Given the description of an element on the screen output the (x, y) to click on. 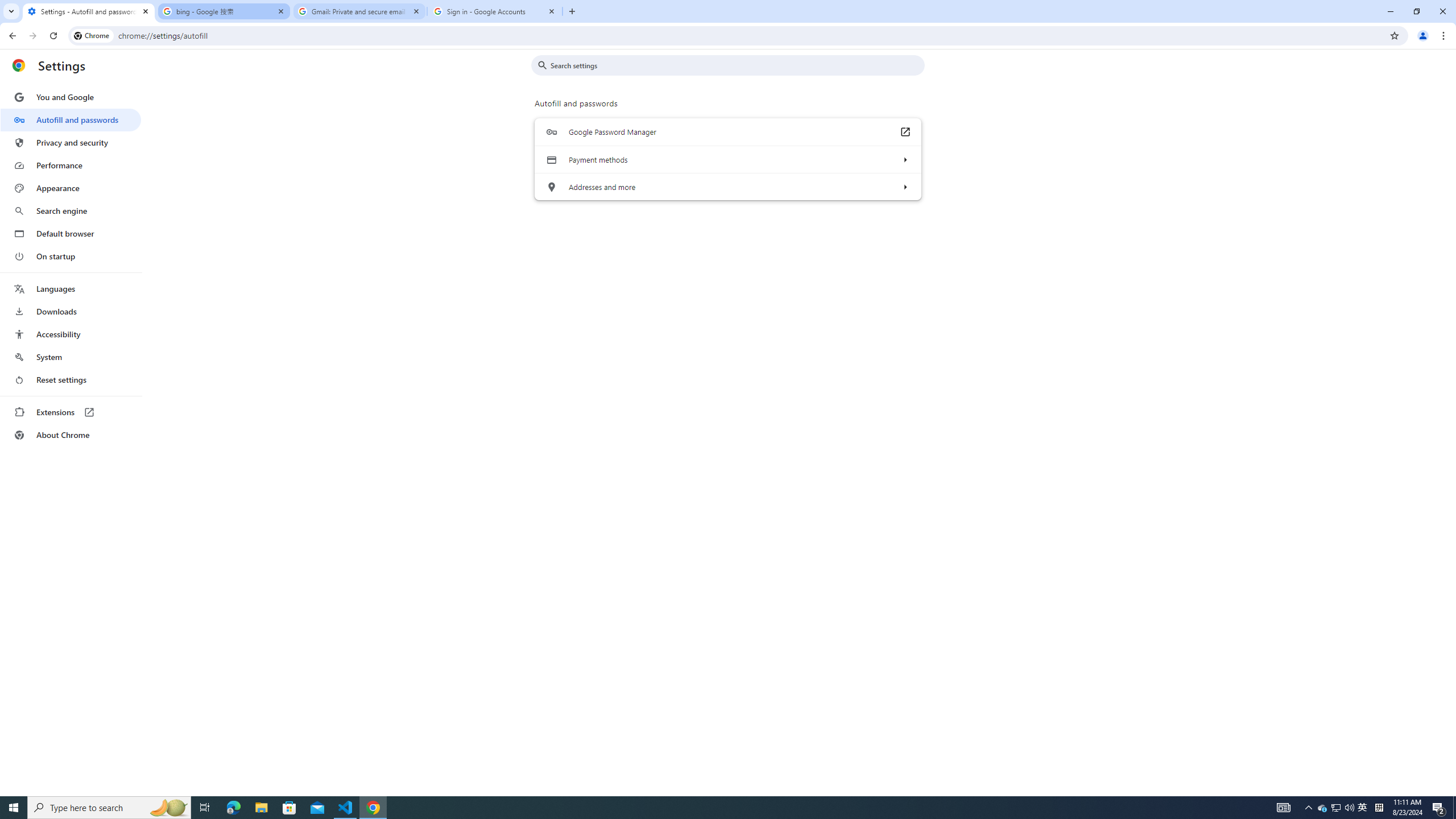
Bing Images (173, 337)
